Given the description of an element on the screen output the (x, y) to click on. 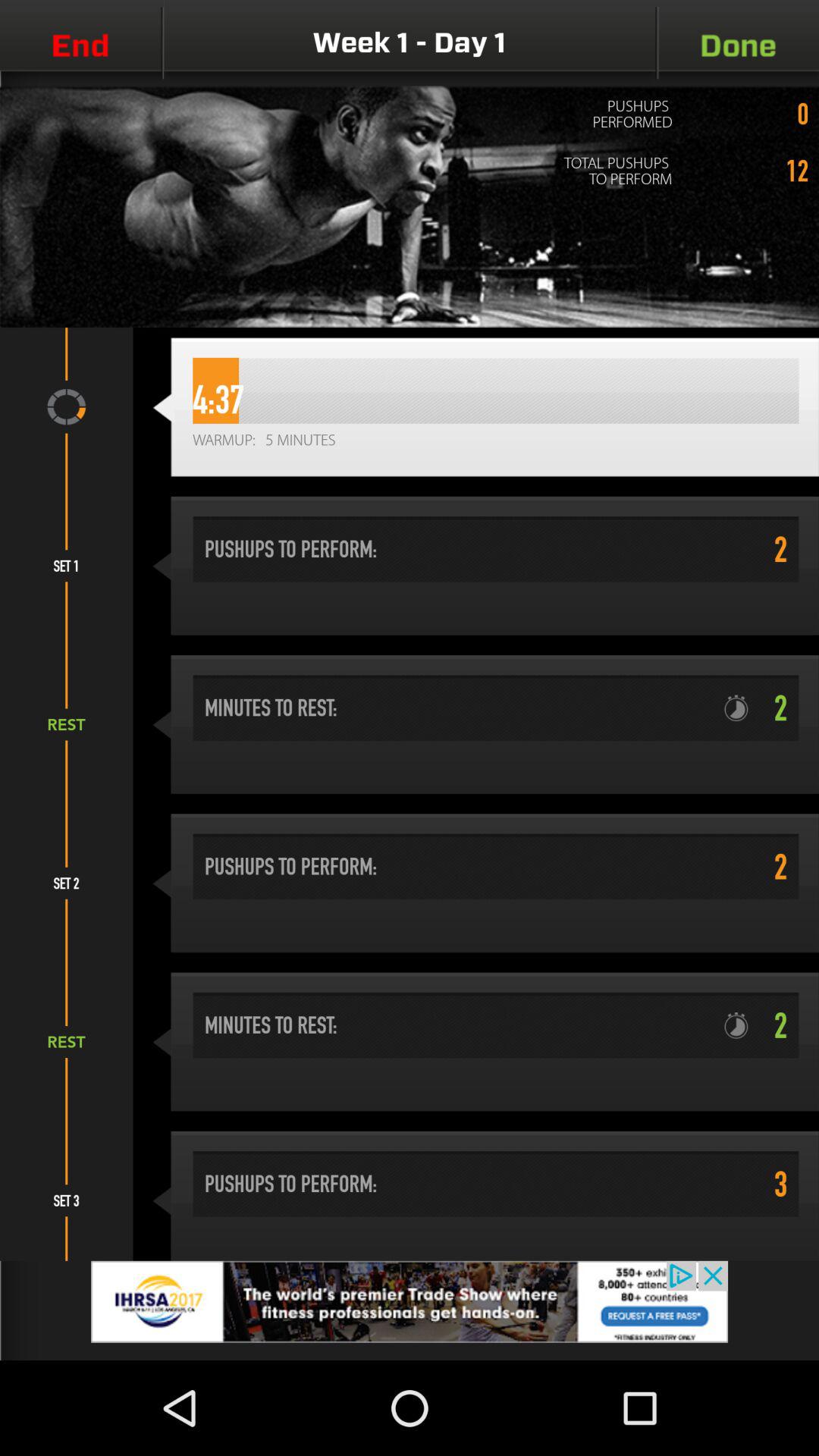
click on the second timer icon from top (741, 1025)
click on 437 (495, 390)
select the first timer icon (741, 707)
